Given the description of an element on the screen output the (x, y) to click on. 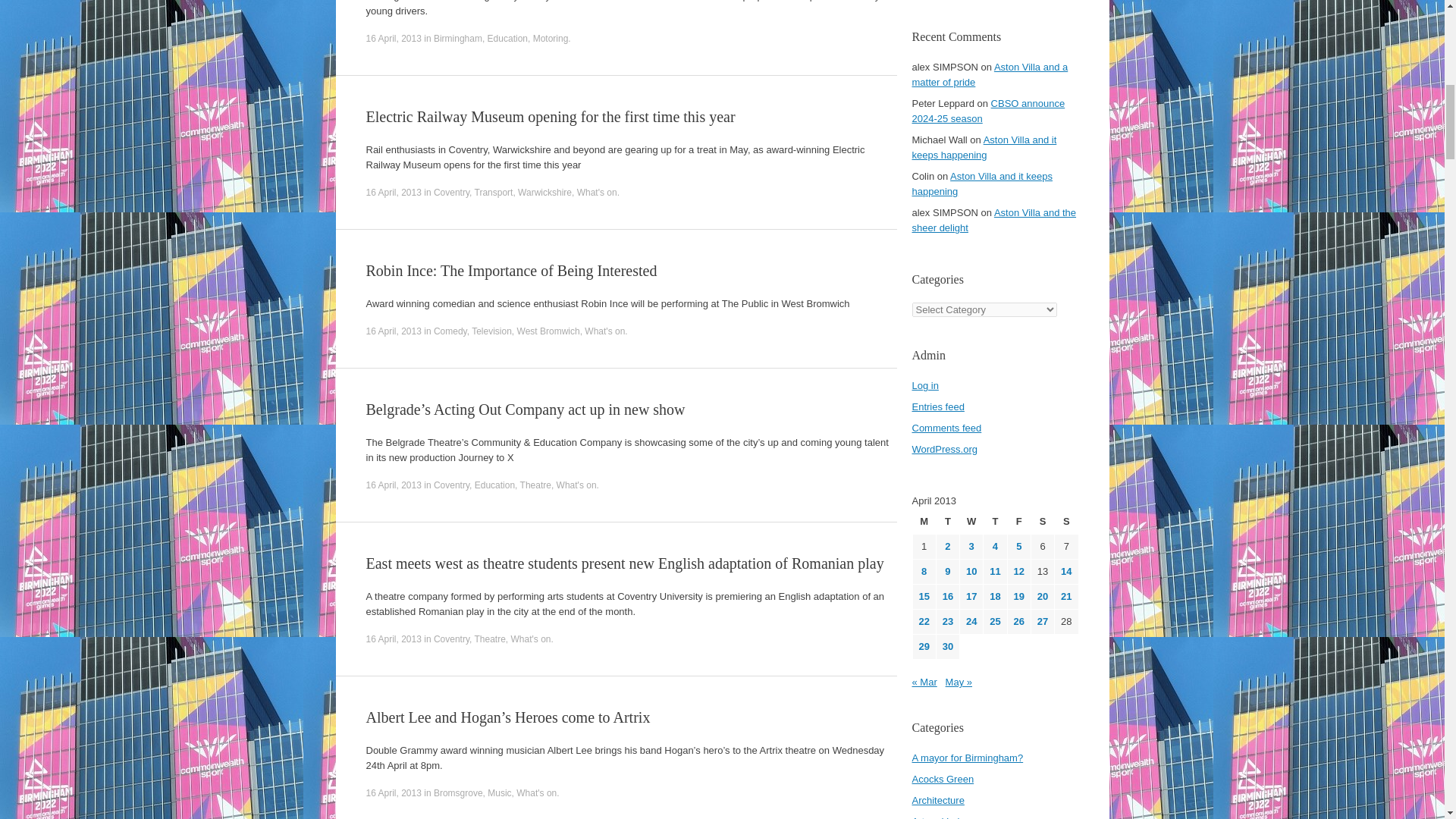
Education (494, 484)
Television (491, 330)
Coventry (450, 192)
Sunday (1065, 521)
Thursday (995, 521)
Monday (924, 521)
Motoring (550, 38)
Transport (493, 192)
Wednesday (970, 521)
Warwickshire (545, 192)
16 April, 2013 (392, 484)
Friday (1018, 521)
Theatre (535, 484)
Birmingham (457, 38)
What's on (596, 192)
